Given the description of an element on the screen output the (x, y) to click on. 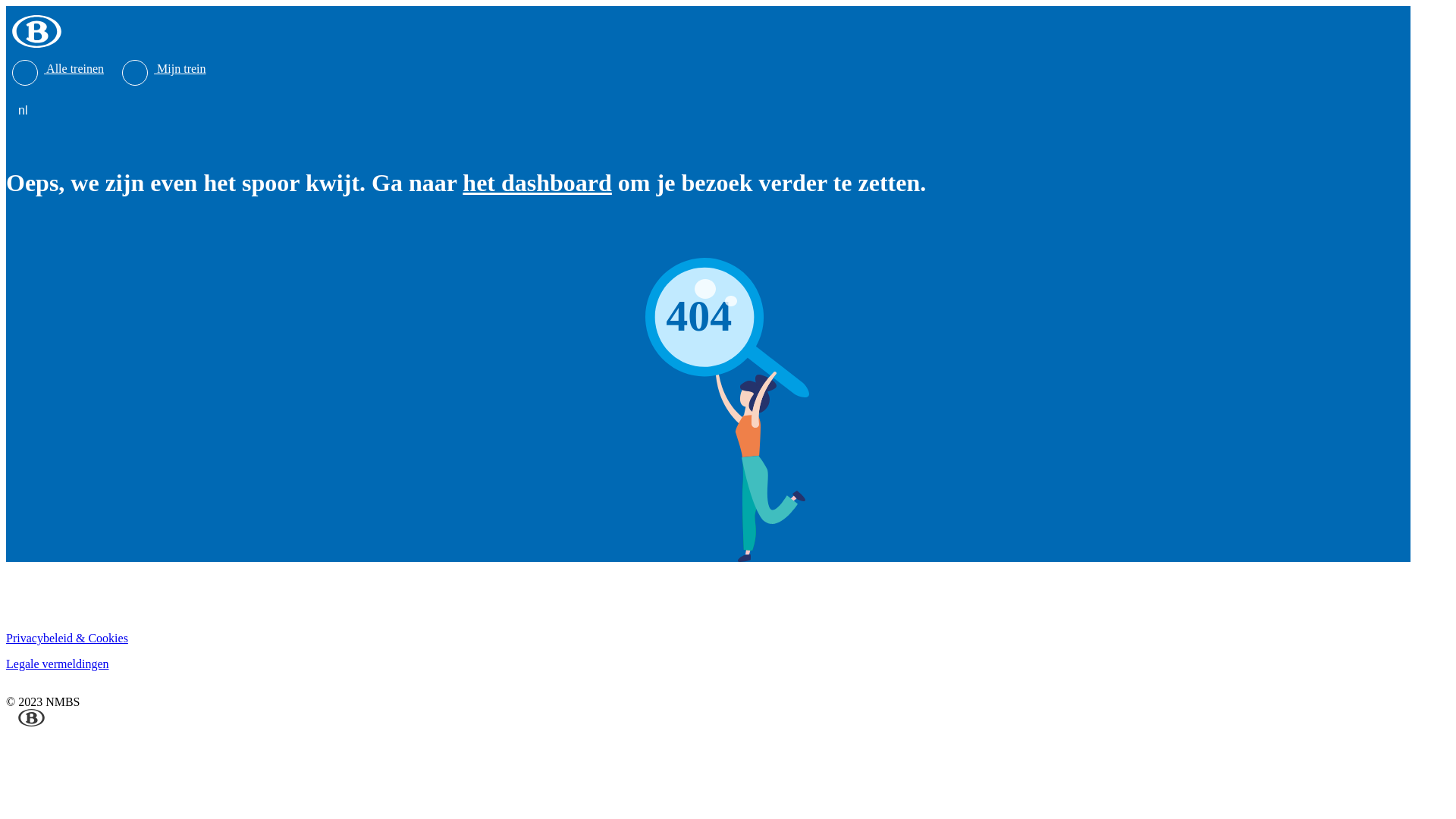
Privacybeleid & Cookies Element type: text (67, 637)
Legale vermeldingen Element type: text (57, 663)
Mijn trein Element type: text (163, 68)
het dashboard Element type: text (536, 182)
Alle treinen Element type: text (57, 68)
nl Element type: text (25, 110)
